Given the description of an element on the screen output the (x, y) to click on. 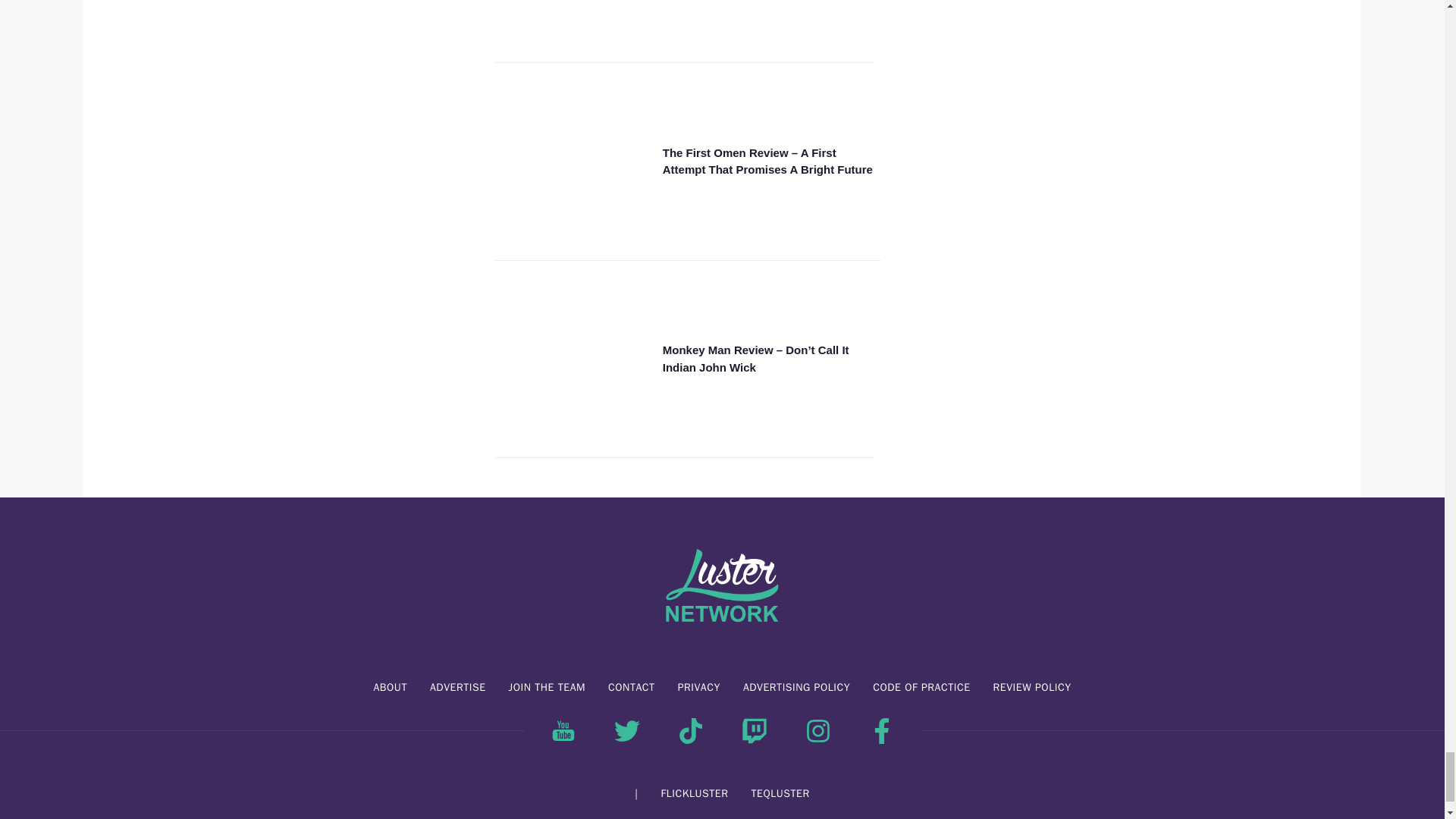
Network Luster Banner White (722, 587)
